Given the description of an element on the screen output the (x, y) to click on. 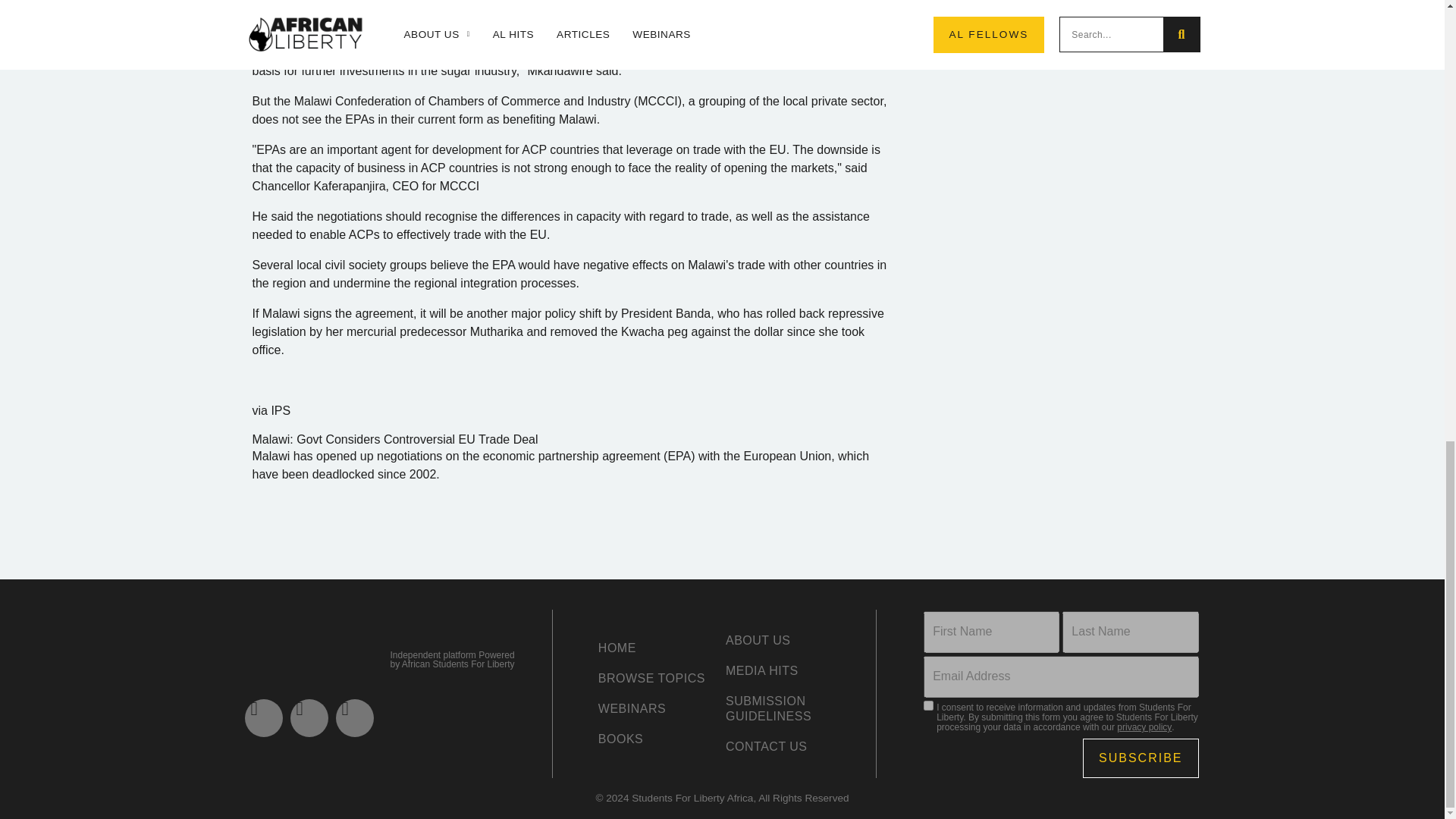
Subscribe (1140, 758)
Last Name (1130, 631)
Email (1060, 676)
First Name (991, 631)
